Given the description of an element on the screen output the (x, y) to click on. 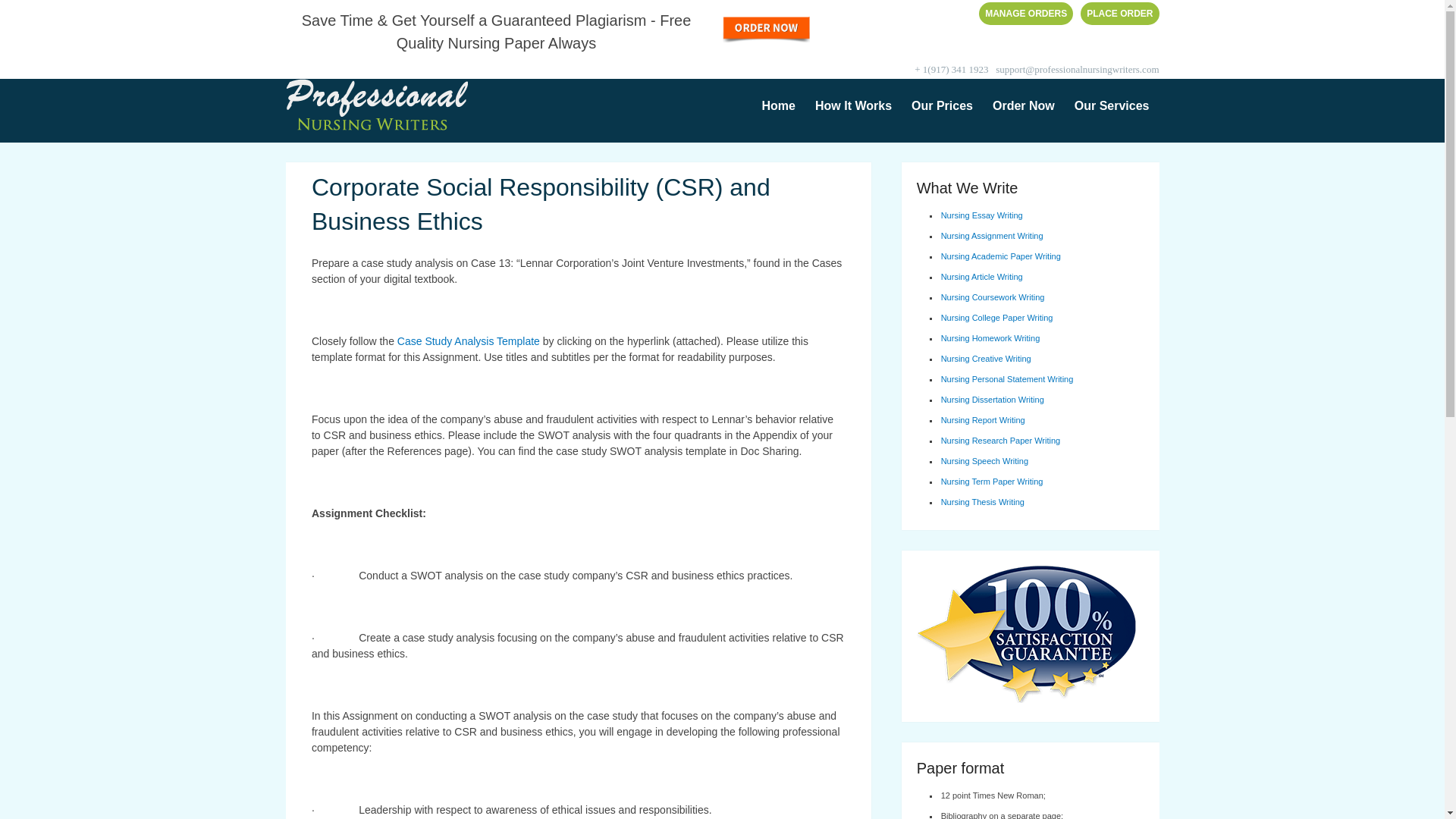
Nursing Article Writing (981, 275)
Nursing Personal Statement Writing (1007, 379)
Nursing Thesis Writing (982, 501)
Our Services (1111, 105)
PLACE ORDER (1119, 13)
Nursing Term Paper Writing (991, 480)
Nursing Speech Writing (983, 461)
Nursing Creative Writing (985, 357)
Nursing Dissertation Writing (991, 398)
Nursing Report Writing (982, 420)
Case Study Analysis Template  (470, 340)
Our Prices (941, 105)
Nursing Assignment Writing (991, 234)
Nursing College Paper Writing (996, 316)
Order Now (1023, 105)
